Given the description of an element on the screen output the (x, y) to click on. 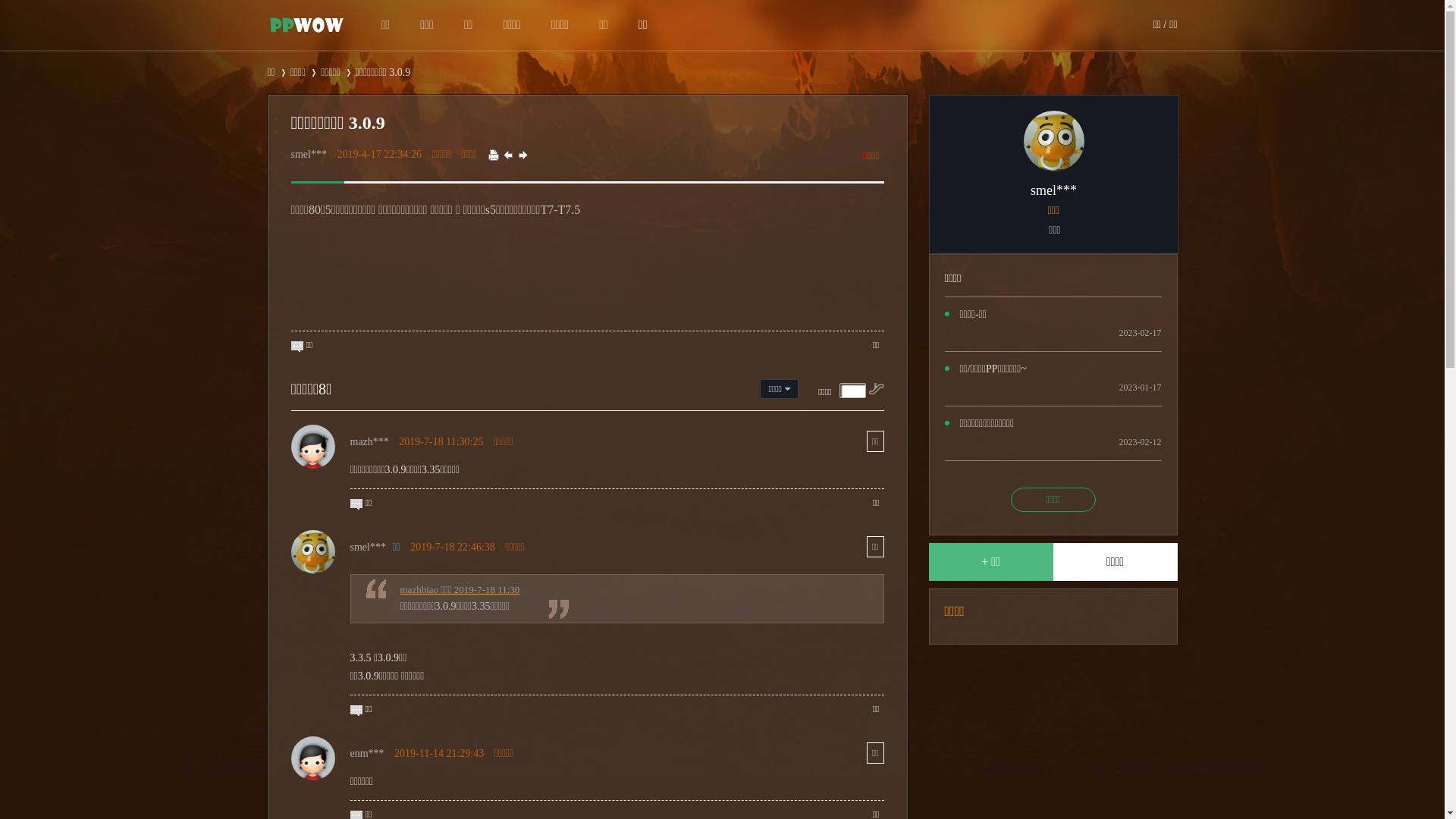
smel*** Element type: text (1053, 190)
mazh*** Element type: text (369, 441)
enm*** Element type: text (367, 753)
smel*** Element type: text (367, 546)
smel*** Element type: text (308, 154)
